Given the description of an element on the screen output the (x, y) to click on. 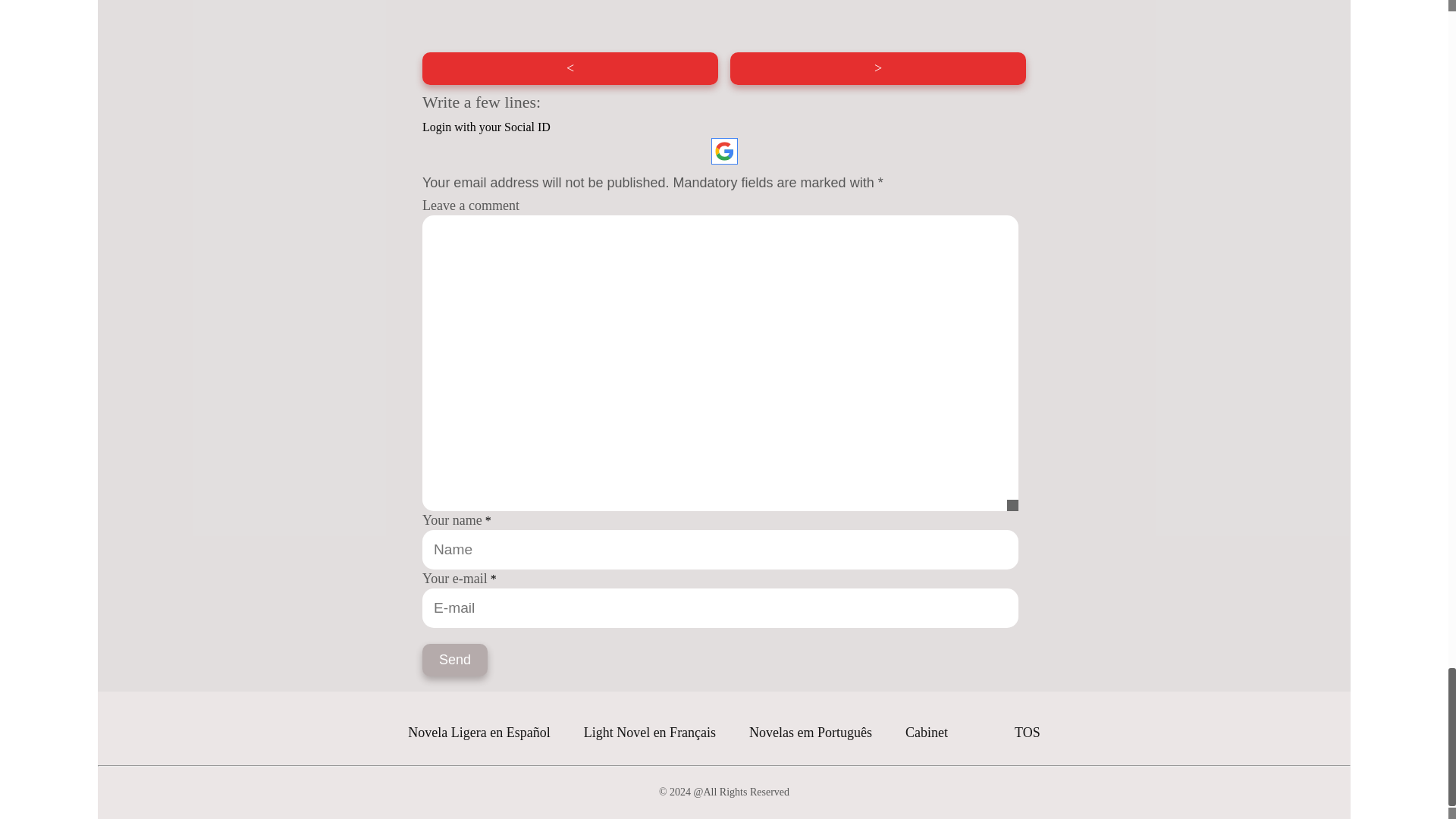
TOS (1027, 732)
Send (454, 659)
Cabinet (926, 732)
Login with Google (724, 151)
Send (454, 659)
